Given the description of an element on the screen output the (x, y) to click on. 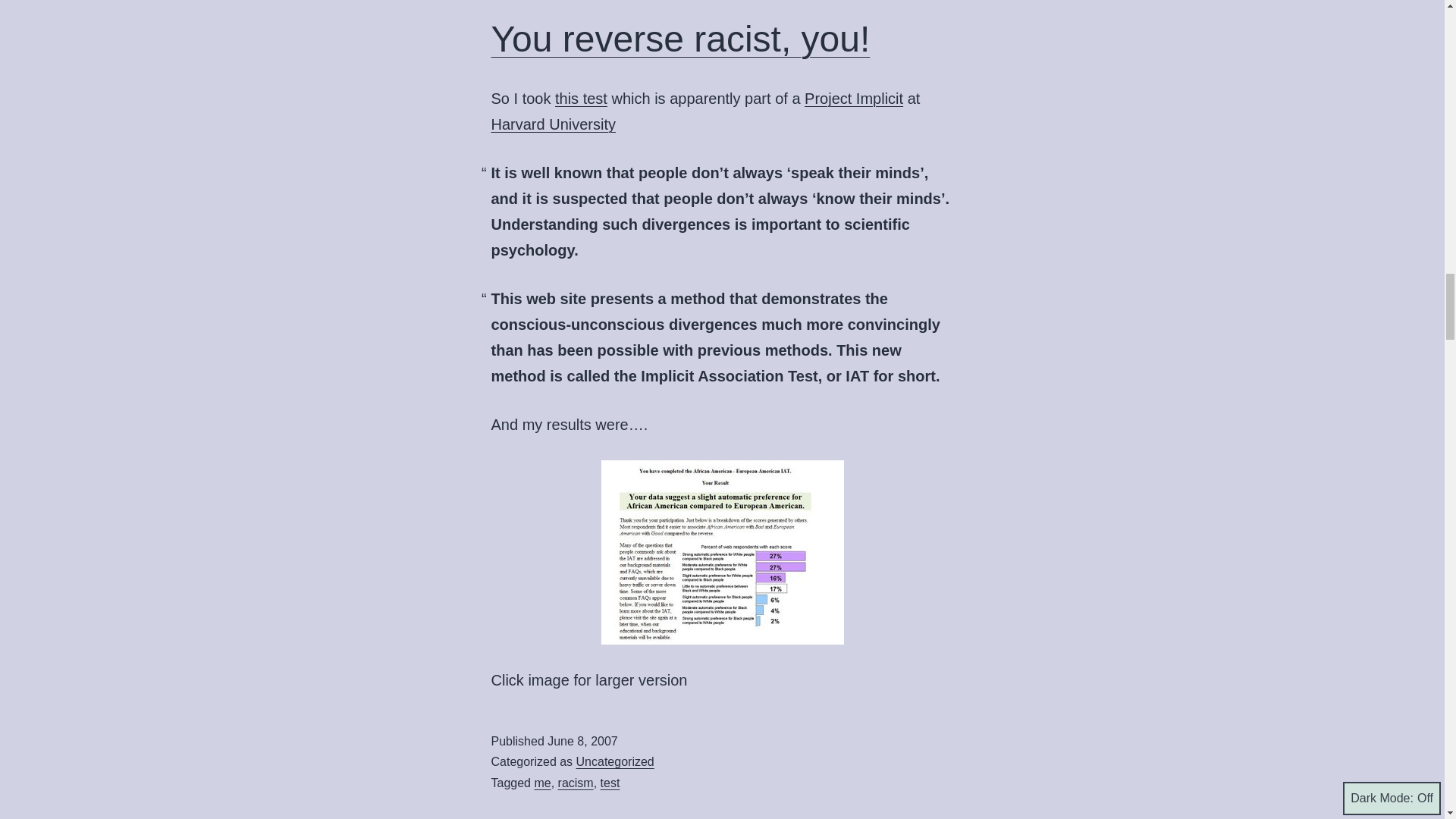
test (609, 782)
Harvard University (553, 124)
Project Implicit (853, 98)
Uncategorized (614, 761)
racism (575, 782)
You reverse racist, you! (681, 38)
this test (580, 98)
me (542, 782)
